Given the description of an element on the screen output the (x, y) to click on. 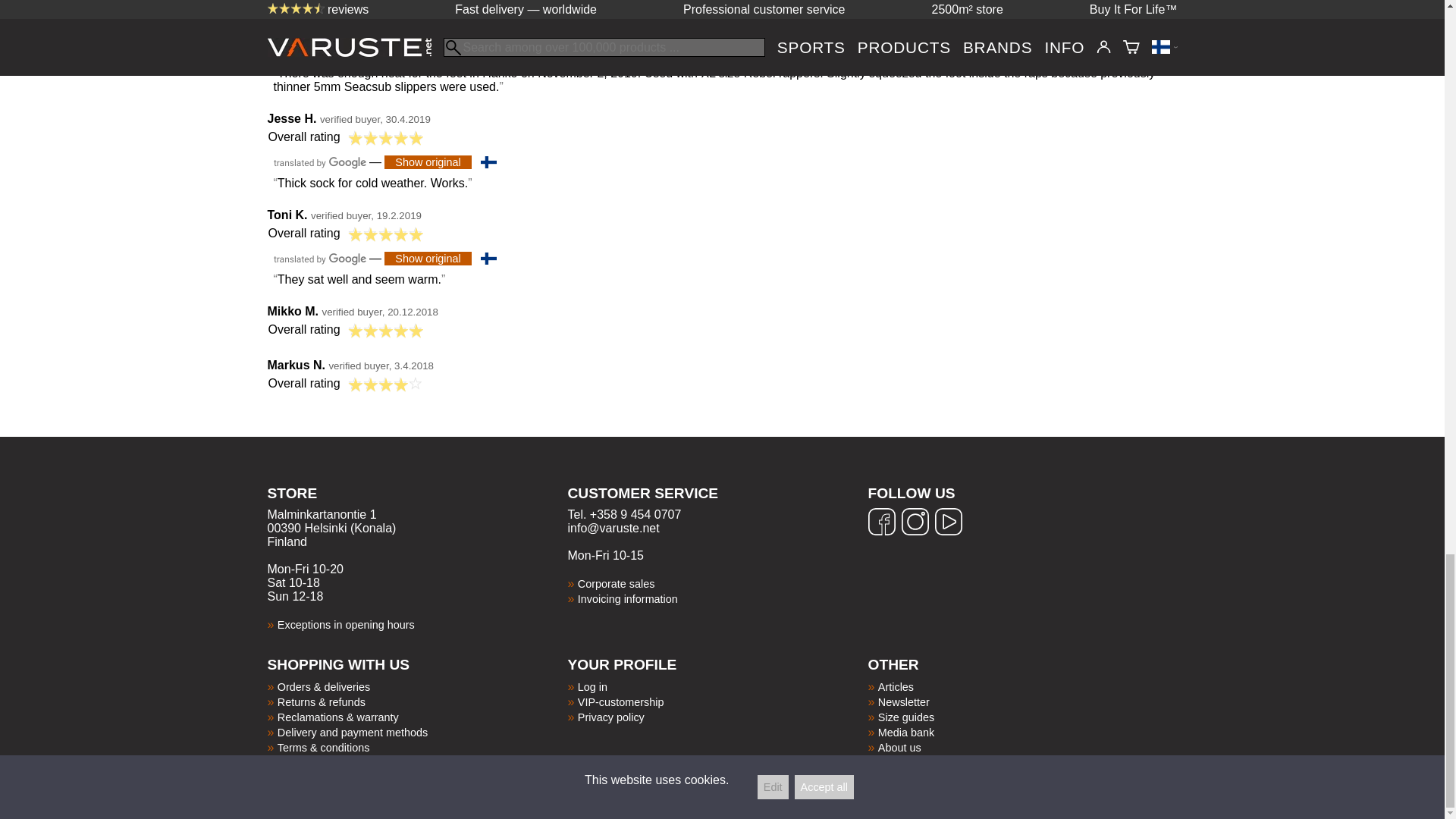
Exceptions in opening hours (346, 624)
Finnish (488, 162)
CUSTOMER SERVICE (717, 502)
Finnish (488, 51)
Finnish (488, 258)
